Given the description of an element on the screen output the (x, y) to click on. 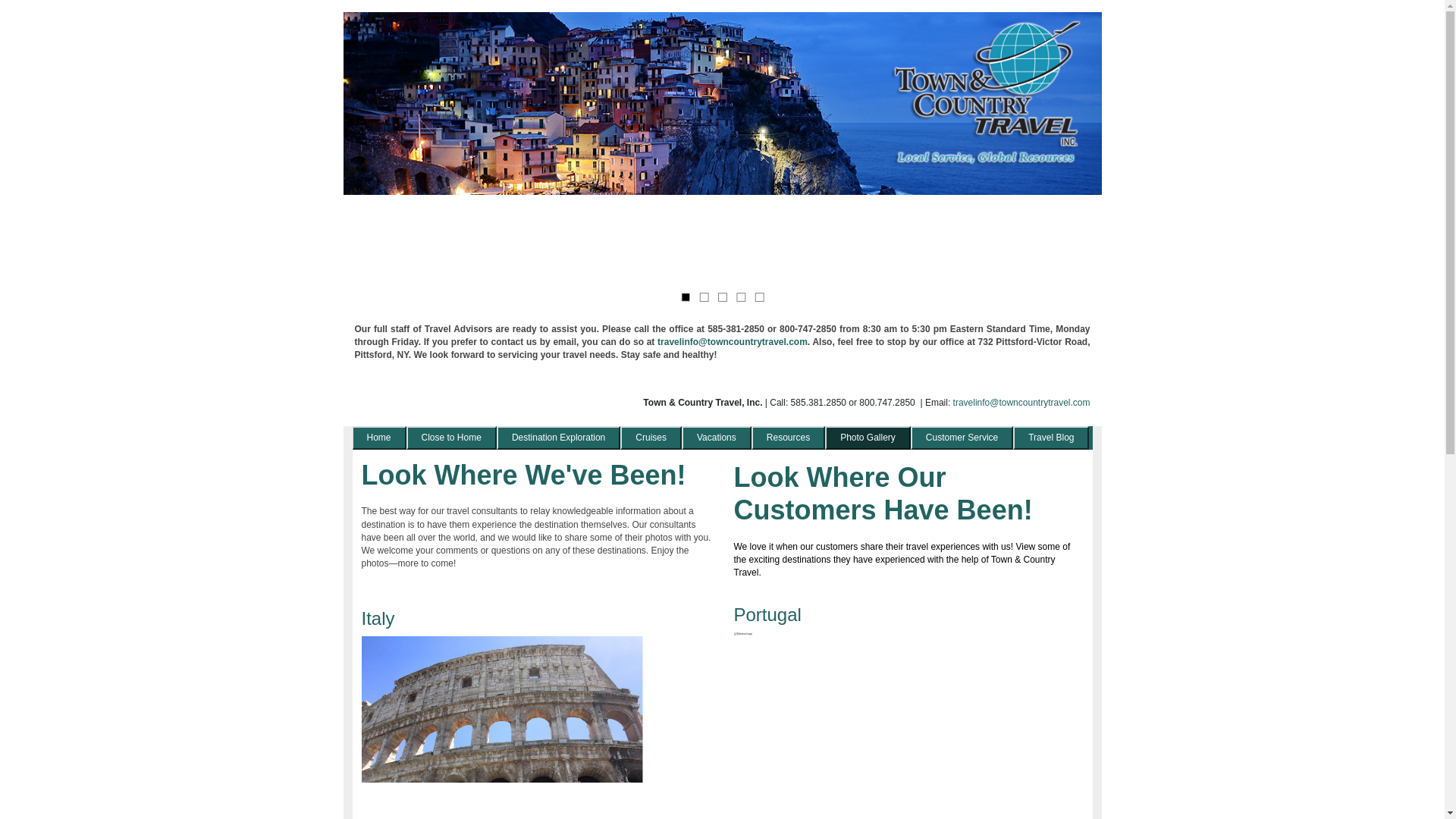
Visit our Facebook page (363, 405)
Resources (788, 437)
Destination Exploration (557, 437)
Vacations (715, 437)
Visit our Instagram page (384, 405)
Home (378, 437)
Photo Gallery (867, 437)
Visit our LinkedIn page (407, 405)
Cruises (650, 437)
Travel Blog (1050, 437)
